Given the description of an element on the screen output the (x, y) to click on. 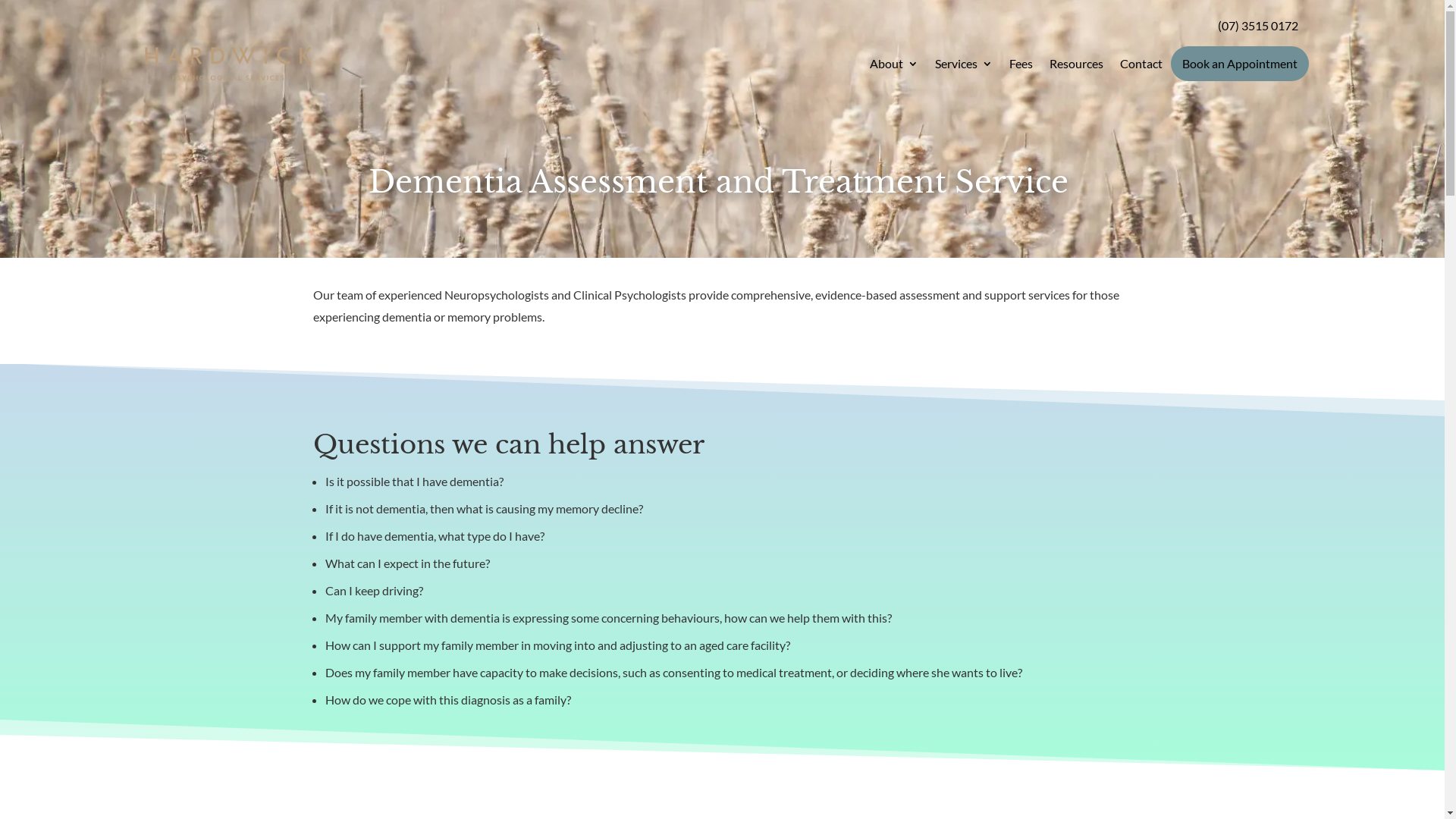
Services Element type: text (962, 63)
Book an Appointment Element type: text (1239, 63)
Resources Element type: text (1076, 63)
About Element type: text (893, 63)
Fees Element type: text (1020, 63)
(07) 3515 0172 Element type: text (1257, 25)
Contact Element type: text (1140, 63)
